Given the description of an element on the screen output the (x, y) to click on. 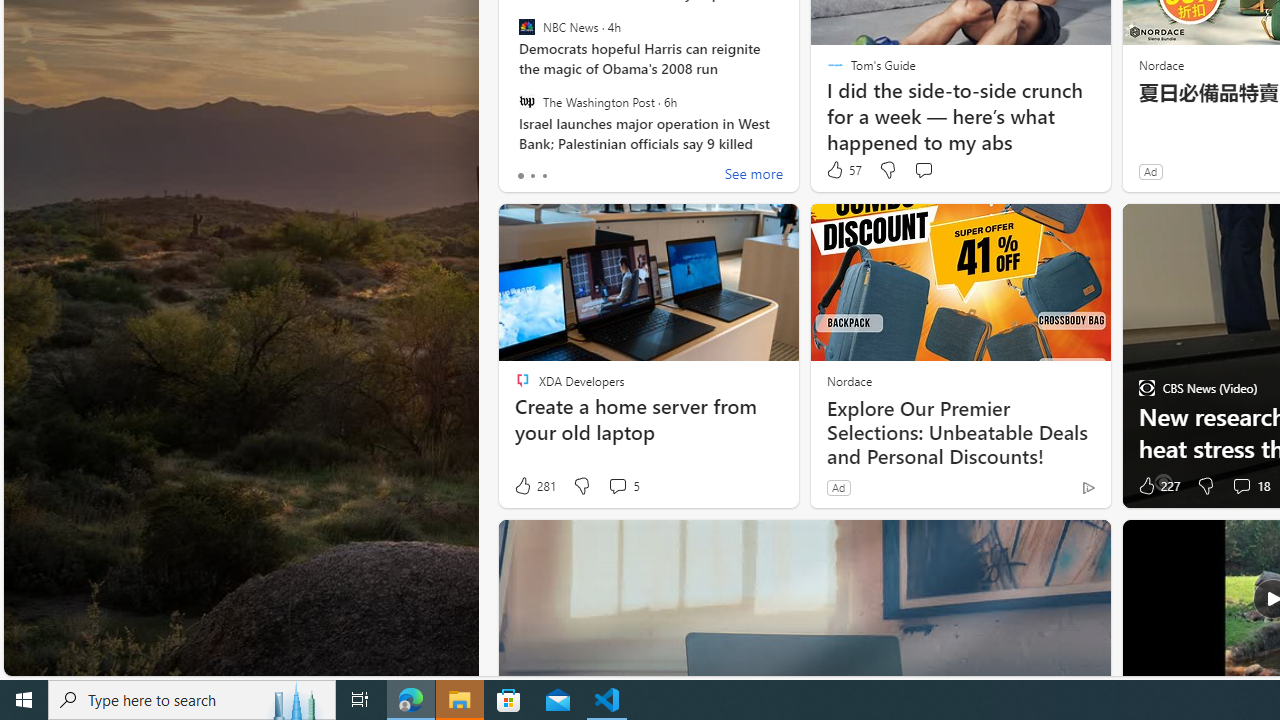
227 Like (1157, 485)
tab-1 (532, 175)
57 Like (843, 170)
tab-0 (520, 175)
